Given the description of an element on the screen output the (x, y) to click on. 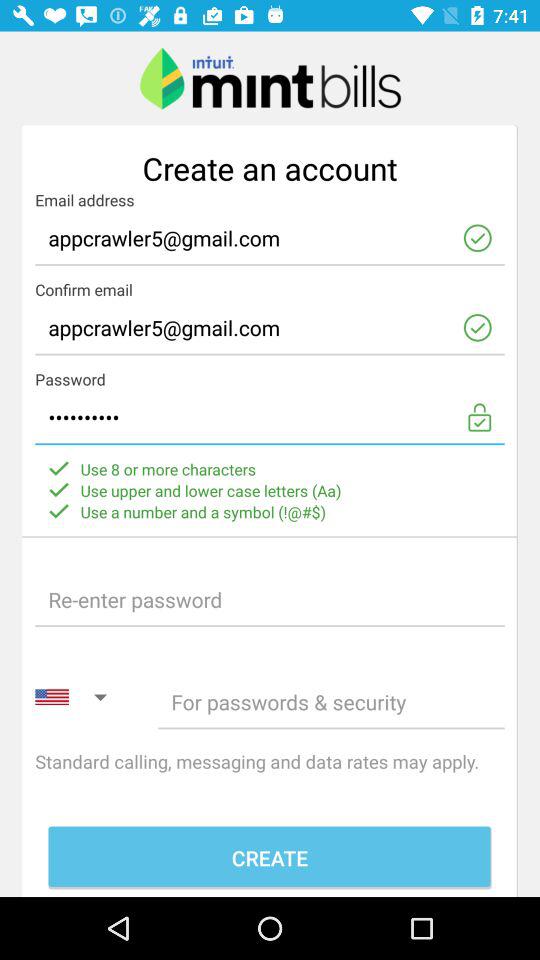
change passwords and security (331, 701)
